Given the description of an element on the screen output the (x, y) to click on. 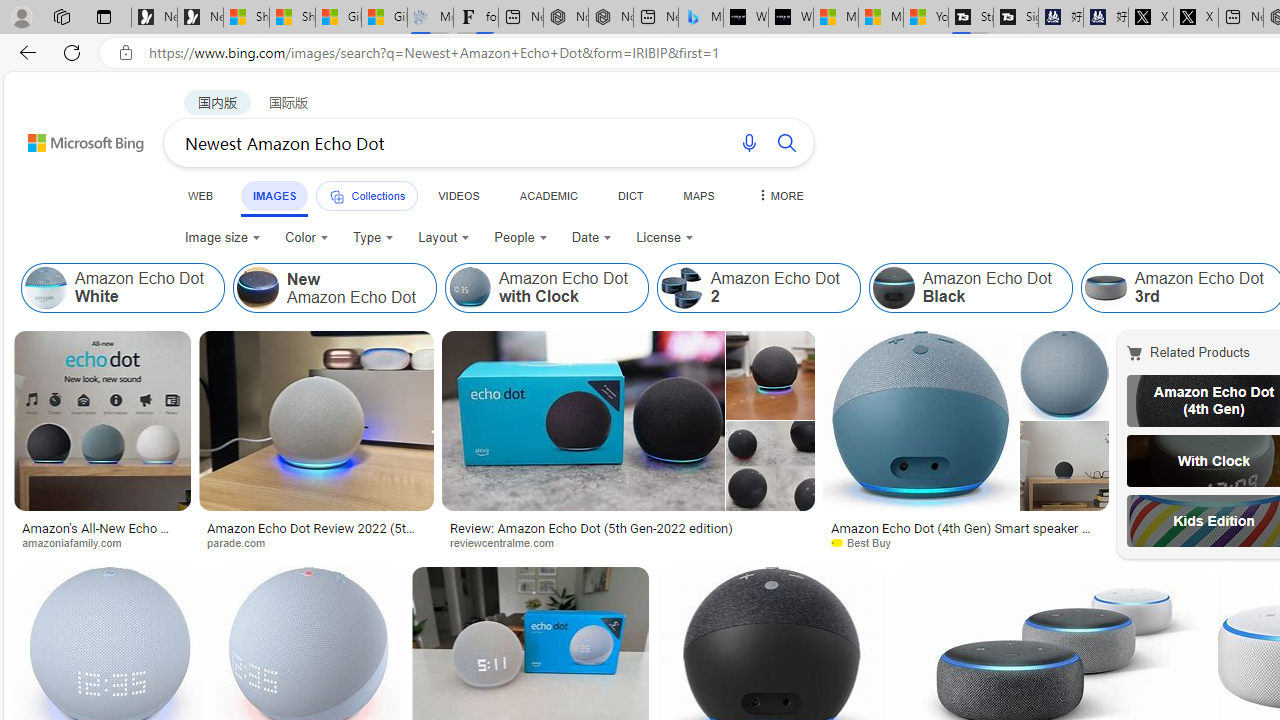
Microsoft Bing Travel - Shangri-La Hotel Bangkok (700, 17)
Amazon Echo Dot 3rd (1105, 287)
Color (305, 237)
Amazon Echo Dot Black (970, 287)
VIDEOS (458, 195)
amazoniafamily.com (102, 542)
ACADEMIC (548, 195)
IMAGES (274, 195)
New Amazon Echo Dot (334, 287)
